Given the description of an element on the screen output the (x, y) to click on. 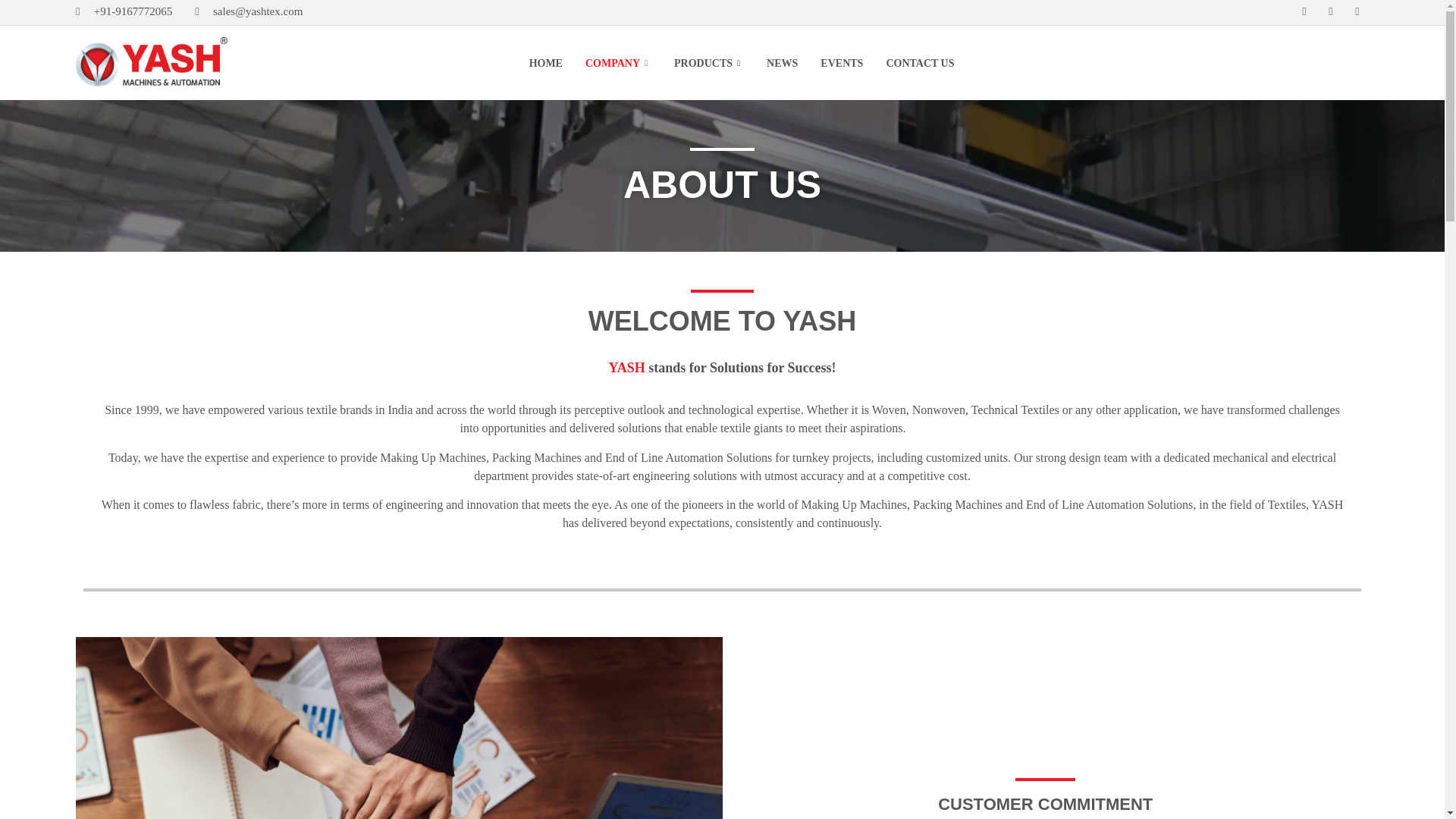
EVENTS (842, 62)
CONTACT US (920, 62)
HOME (545, 62)
PRODUCTS (708, 62)
COMPANY (617, 62)
NEWS (782, 62)
